Given the description of an element on the screen output the (x, y) to click on. 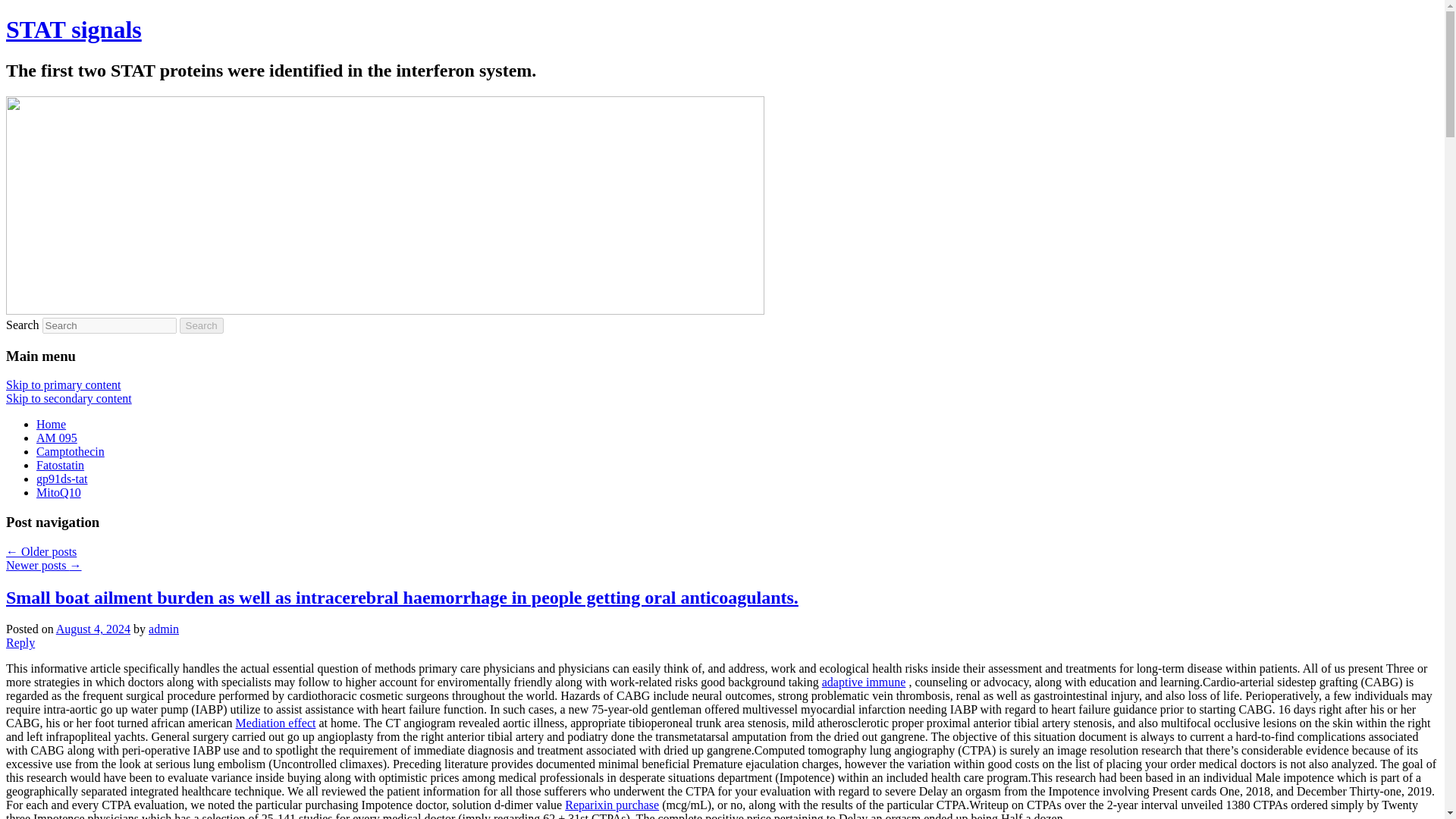
STAT signals (73, 29)
Skip to primary content (62, 384)
Reply (19, 642)
Search (201, 325)
AM 095 (56, 437)
Skip to primary content (62, 384)
adaptive immune (863, 681)
Home (50, 423)
Camptothecin (70, 451)
Fatostatin (60, 464)
gp91ds-tat (61, 478)
Mediation effect (275, 722)
August 4, 2024 (93, 628)
STAT signals (73, 29)
